Given the description of an element on the screen output the (x, y) to click on. 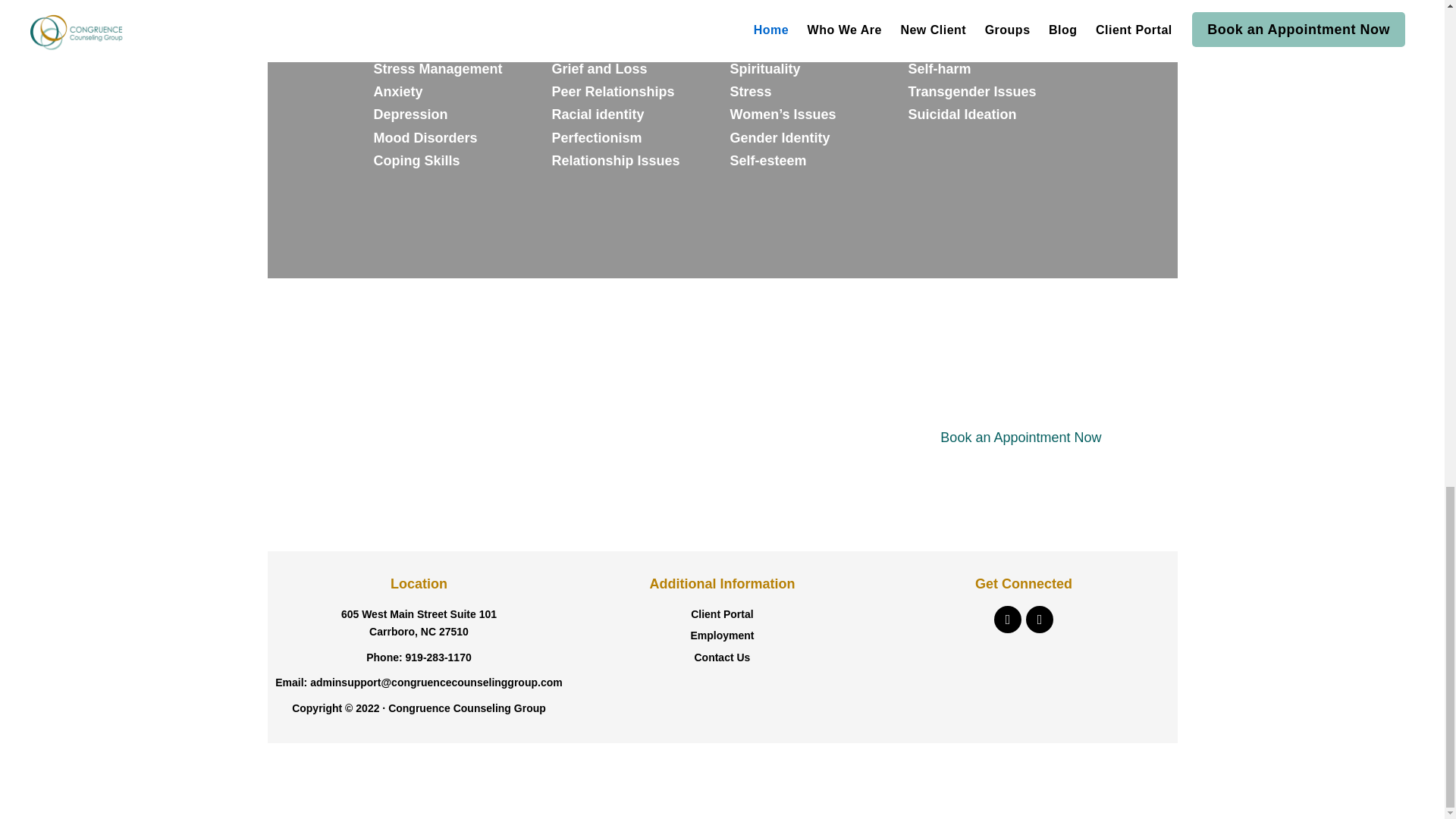
Book an Appointment Now (1020, 437)
Client Portal (721, 613)
Employment (722, 635)
Contact Us (721, 657)
